Given the description of an element on the screen output the (x, y) to click on. 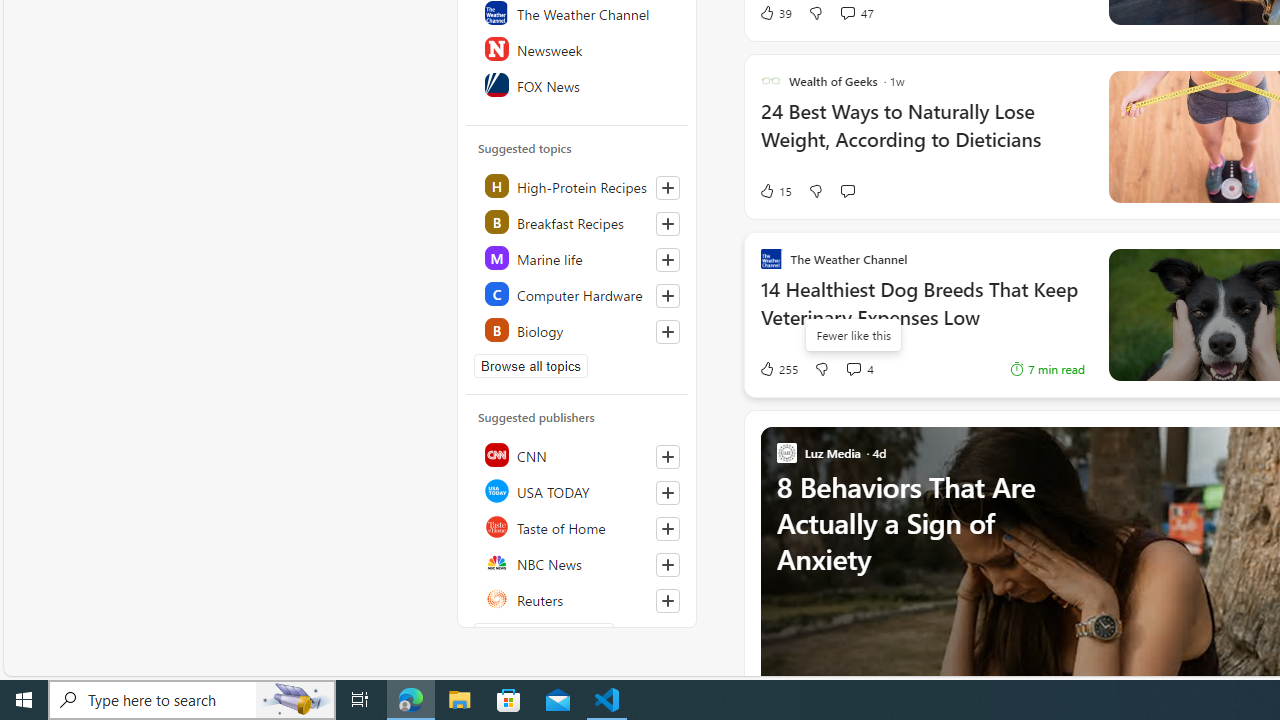
Browse all publishers (543, 634)
CNN (578, 454)
Follow this source (667, 600)
View comments 4 Comment (852, 368)
Follow this topic (667, 331)
Follow this topic (667, 331)
255 Like (778, 368)
Newsweek (578, 48)
NBC News (578, 562)
14 Healthiest Dog Breeds That Keep Veterinary Expenses Low (922, 313)
